Given the description of an element on the screen output the (x, y) to click on. 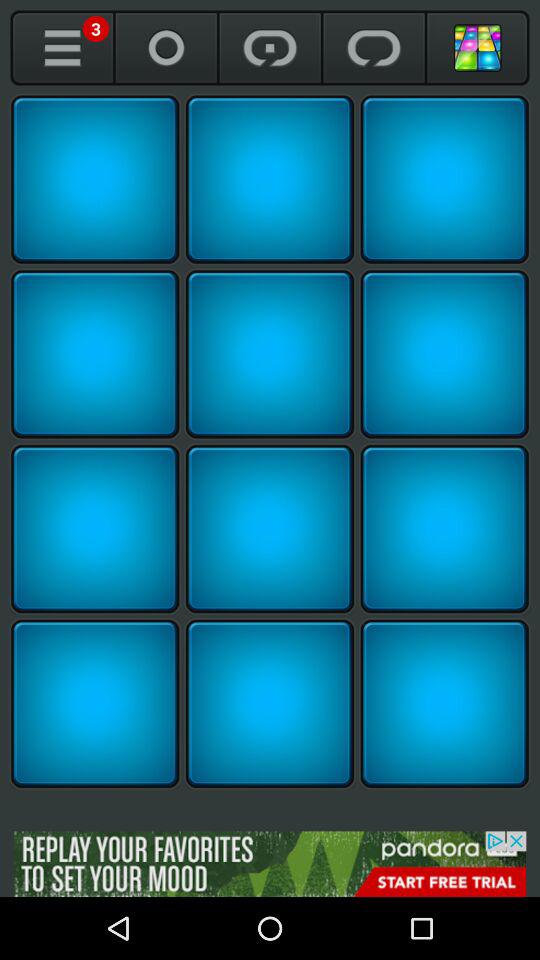
resume (374, 47)
